Given the description of an element on the screen output the (x, y) to click on. 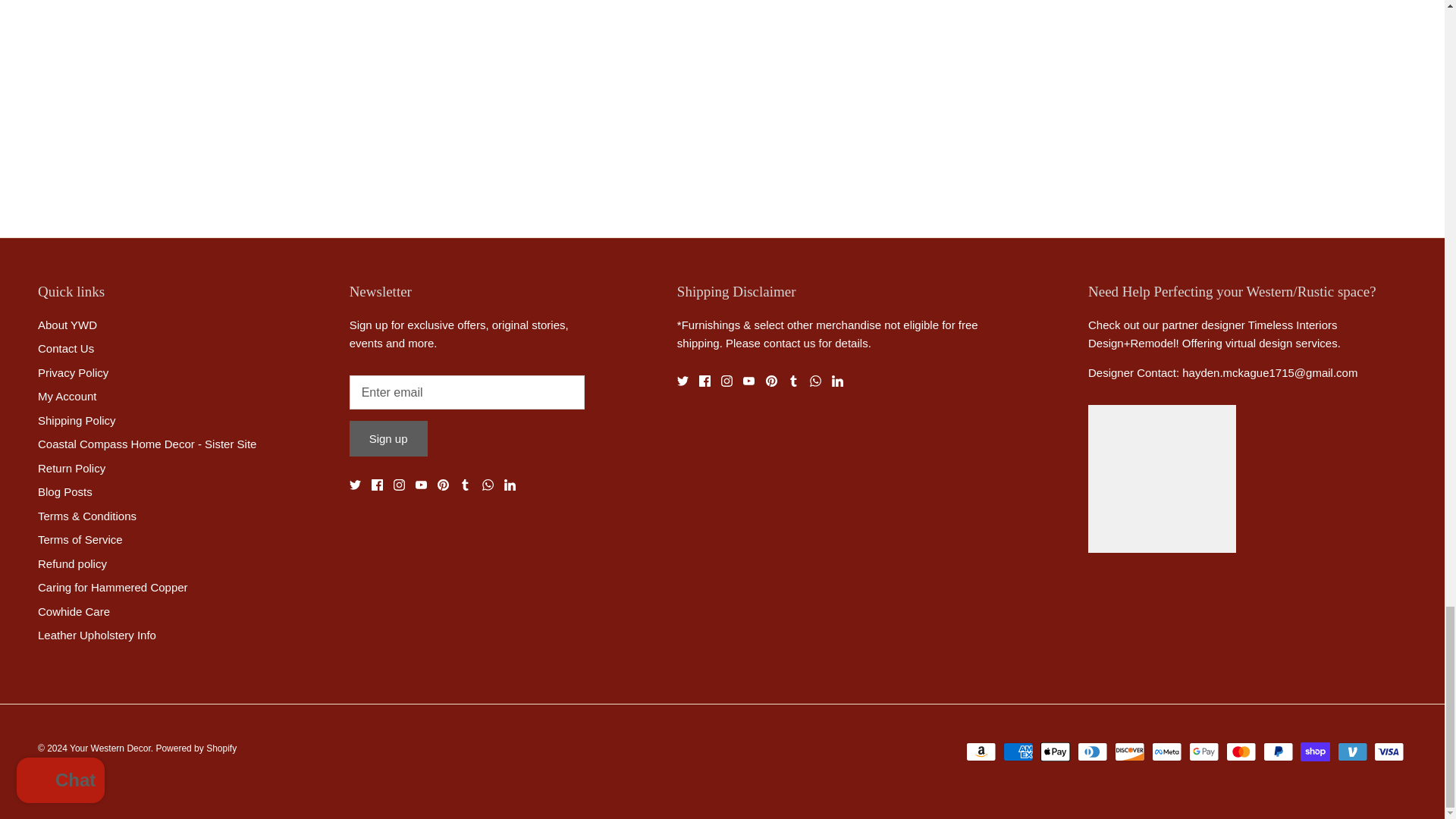
Facebook (376, 484)
Twitter (355, 484)
